Given the description of an element on the screen output the (x, y) to click on. 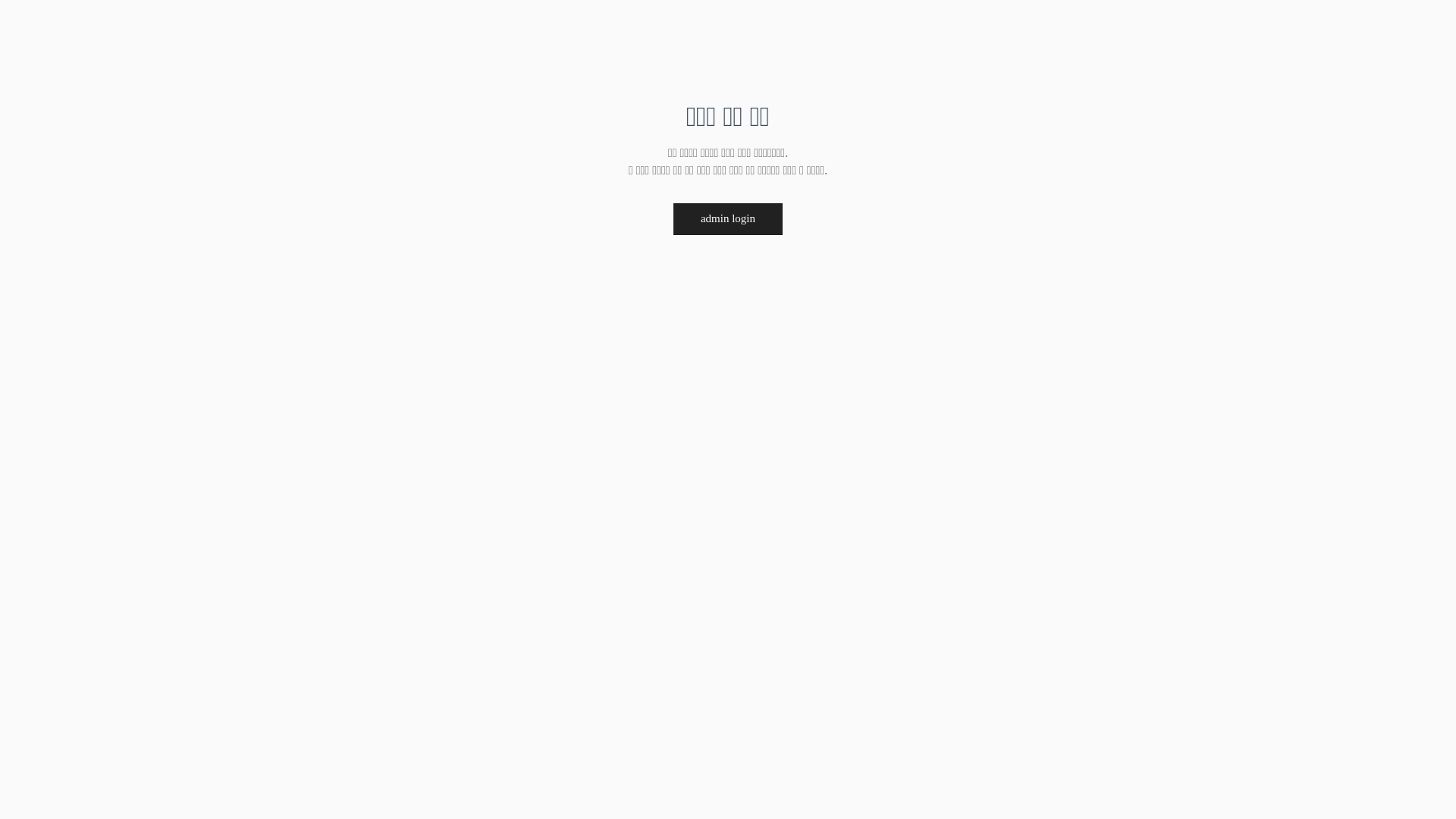
admin login Element type: text (727, 219)
